Given the description of an element on the screen output the (x, y) to click on. 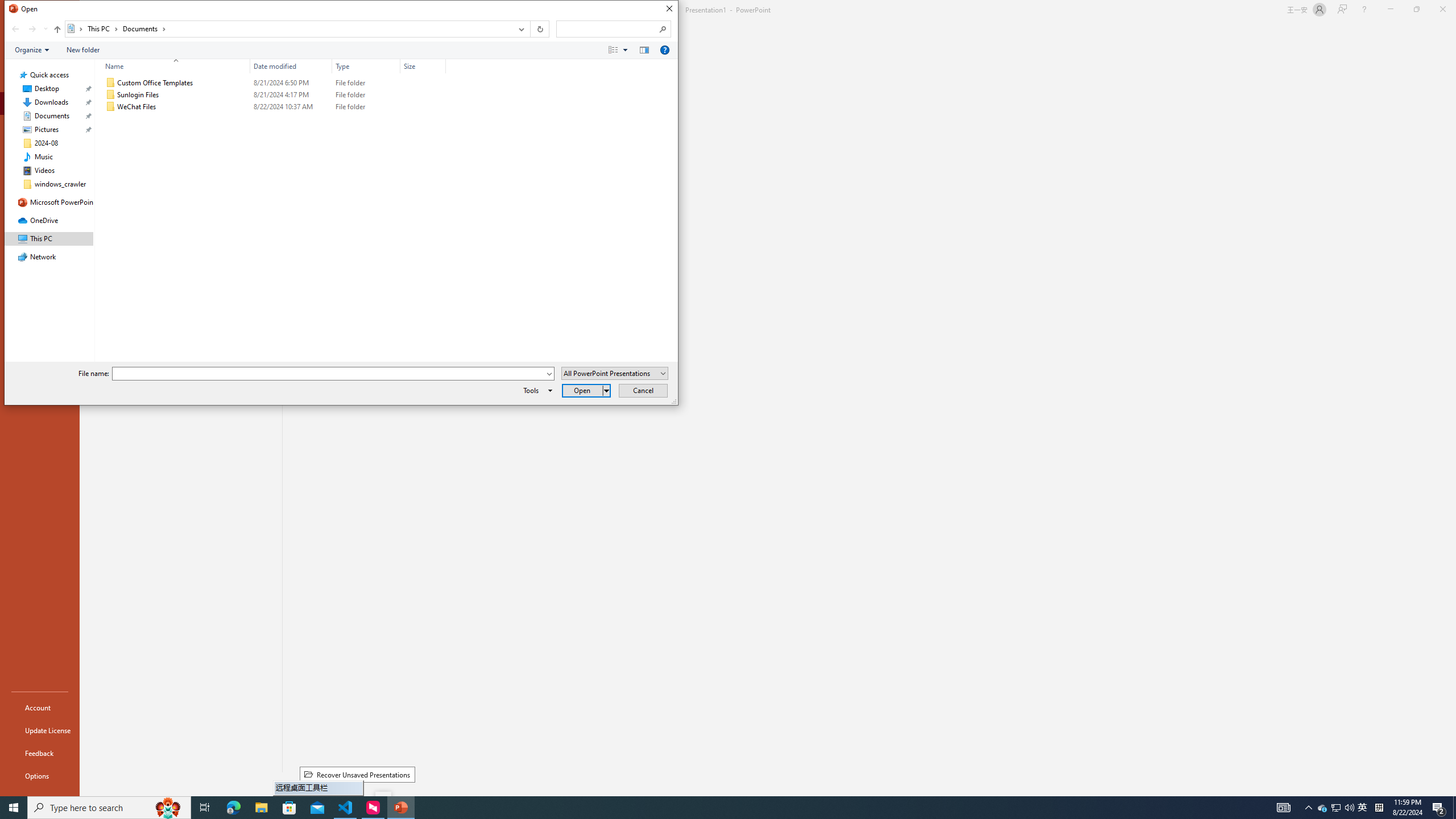
File name: (333, 373)
Feedback (40, 753)
